Given the description of an element on the screen output the (x, y) to click on. 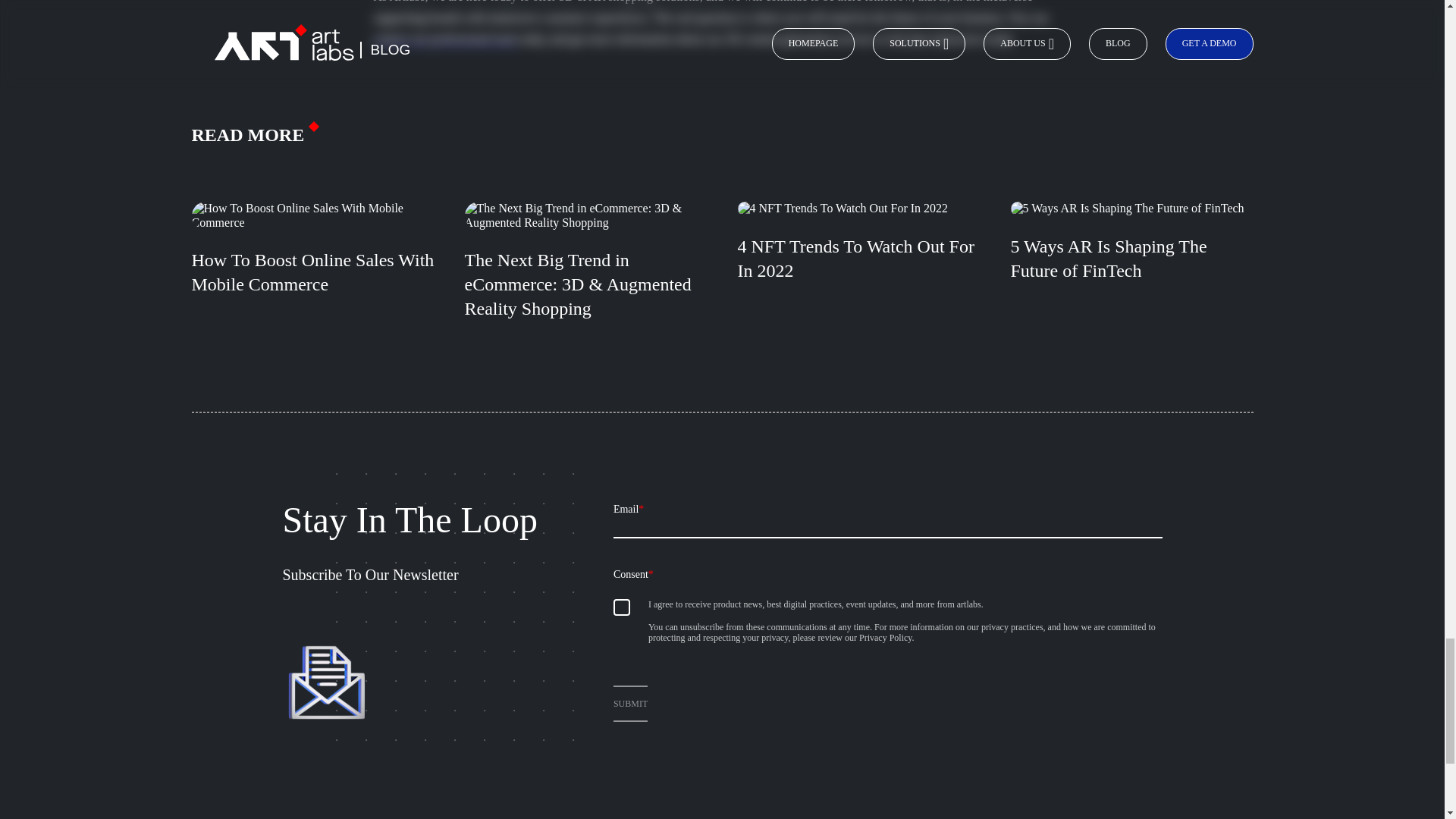
5 Ways AR Is Shaping The Future of FinTech (1131, 276)
contact our professional team (444, 38)
SUBMIT (629, 703)
4 NFT Trends To Watch Out For In 2022 (857, 276)
How To Boost Online Sales With Mobile Commerce (311, 276)
